Given the description of an element on the screen output the (x, y) to click on. 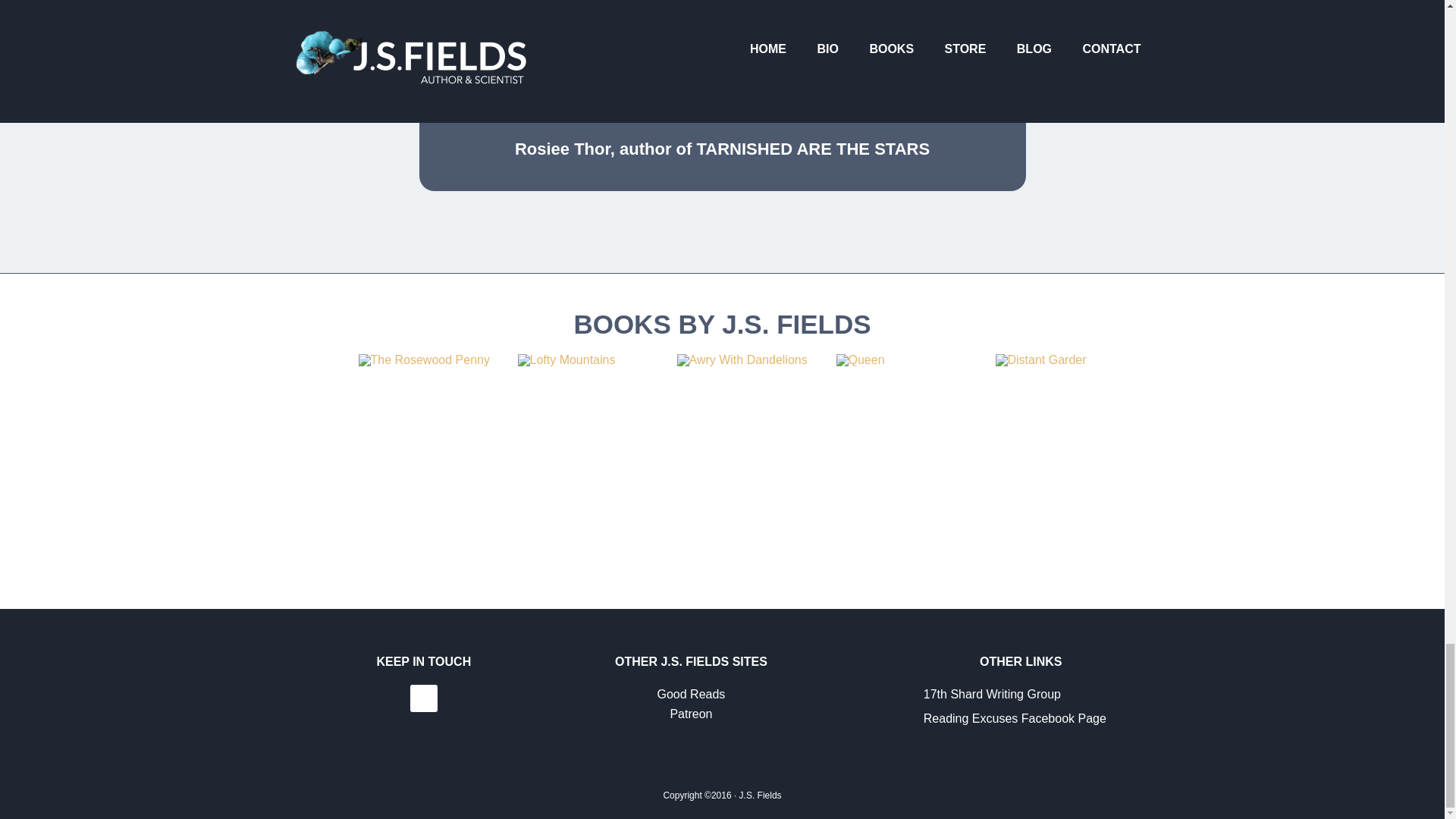
17th Shard Writing Group (992, 694)
Awry With Dandelions (752, 359)
Good Reads (690, 694)
Lofty Mountains (592, 359)
Patreon (690, 713)
The Rosewood Penny (433, 359)
Queen (911, 359)
Distant Gardens (1070, 359)
Reading Excuses Facebook Page (1014, 717)
